Given the description of an element on the screen output the (x, y) to click on. 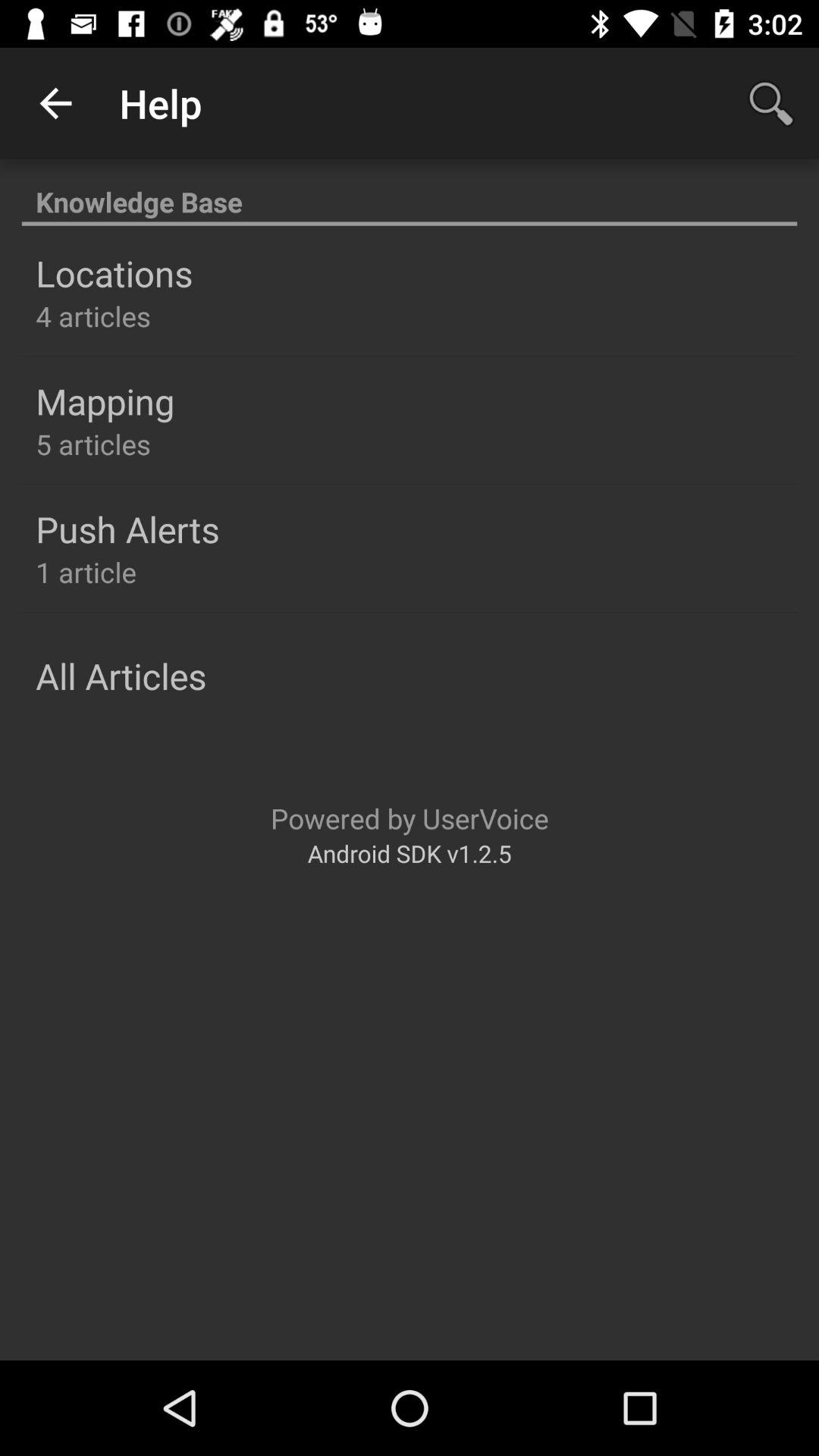
turn on the 4 articles (92, 315)
